Given the description of an element on the screen output the (x, y) to click on. 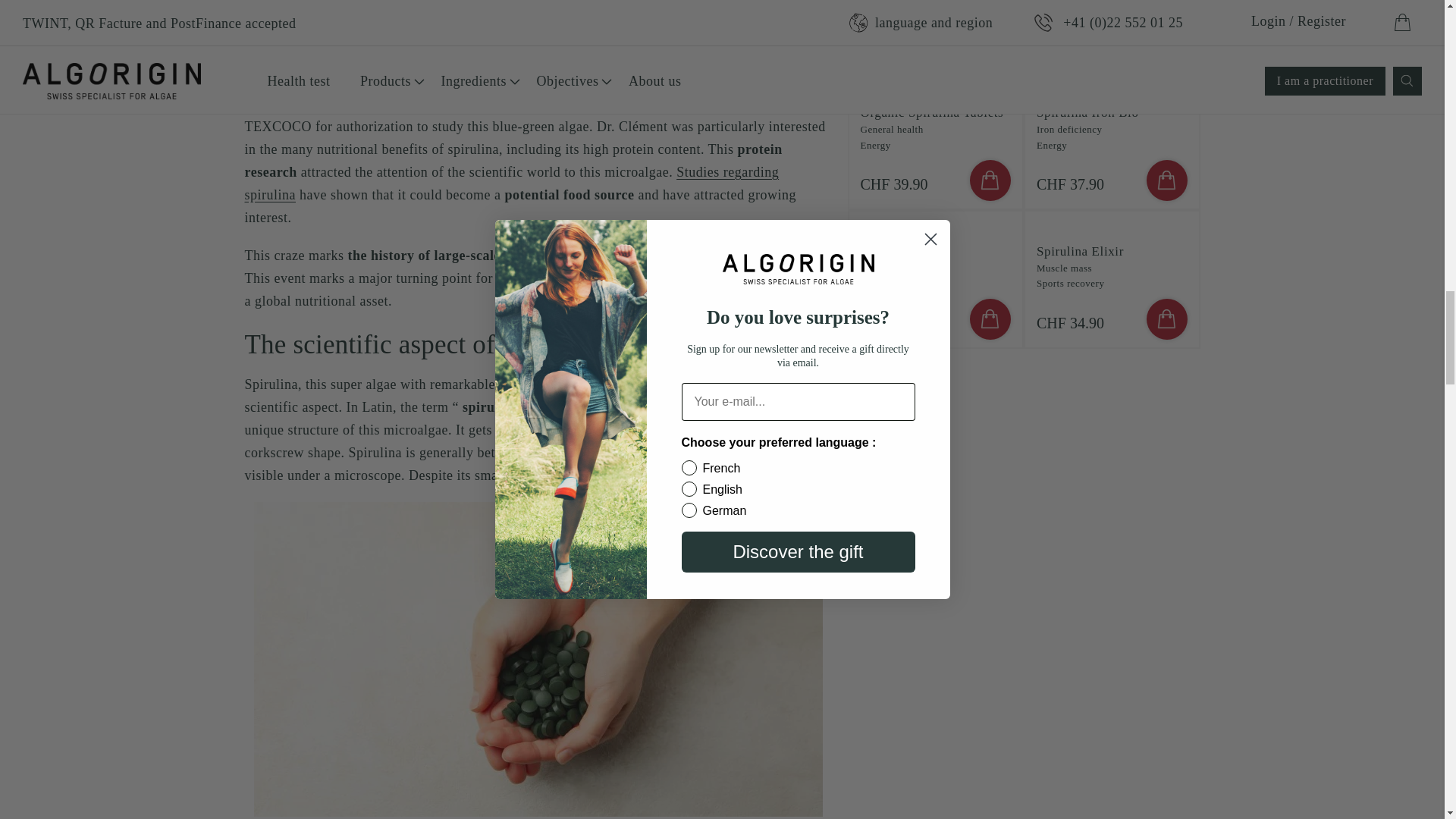
Studies concerning spirulina (511, 183)
